Given the description of an element on the screen output the (x, y) to click on. 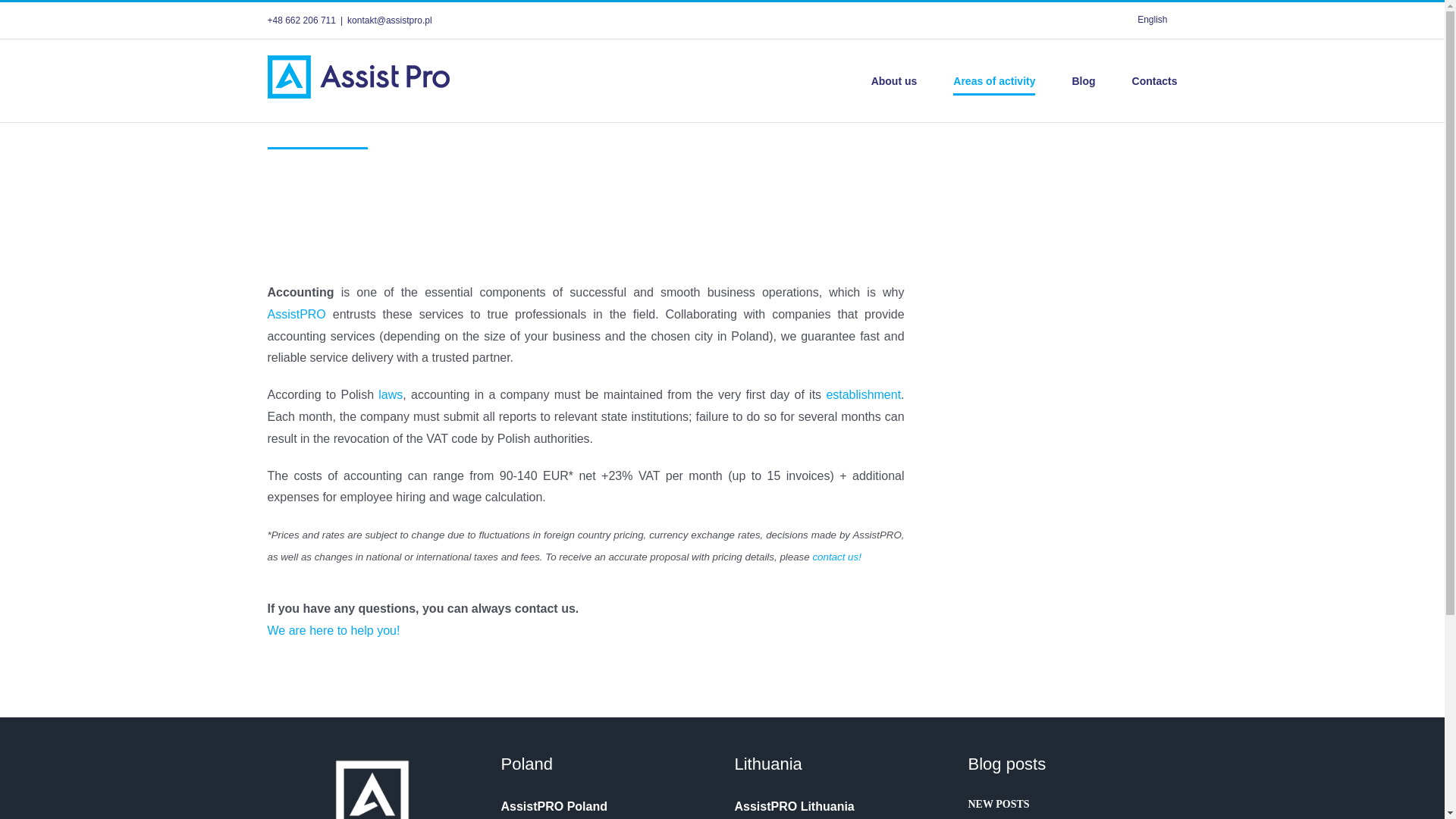
Areas of activity (994, 80)
English (1151, 20)
English (1151, 20)
